Given the description of an element on the screen output the (x, y) to click on. 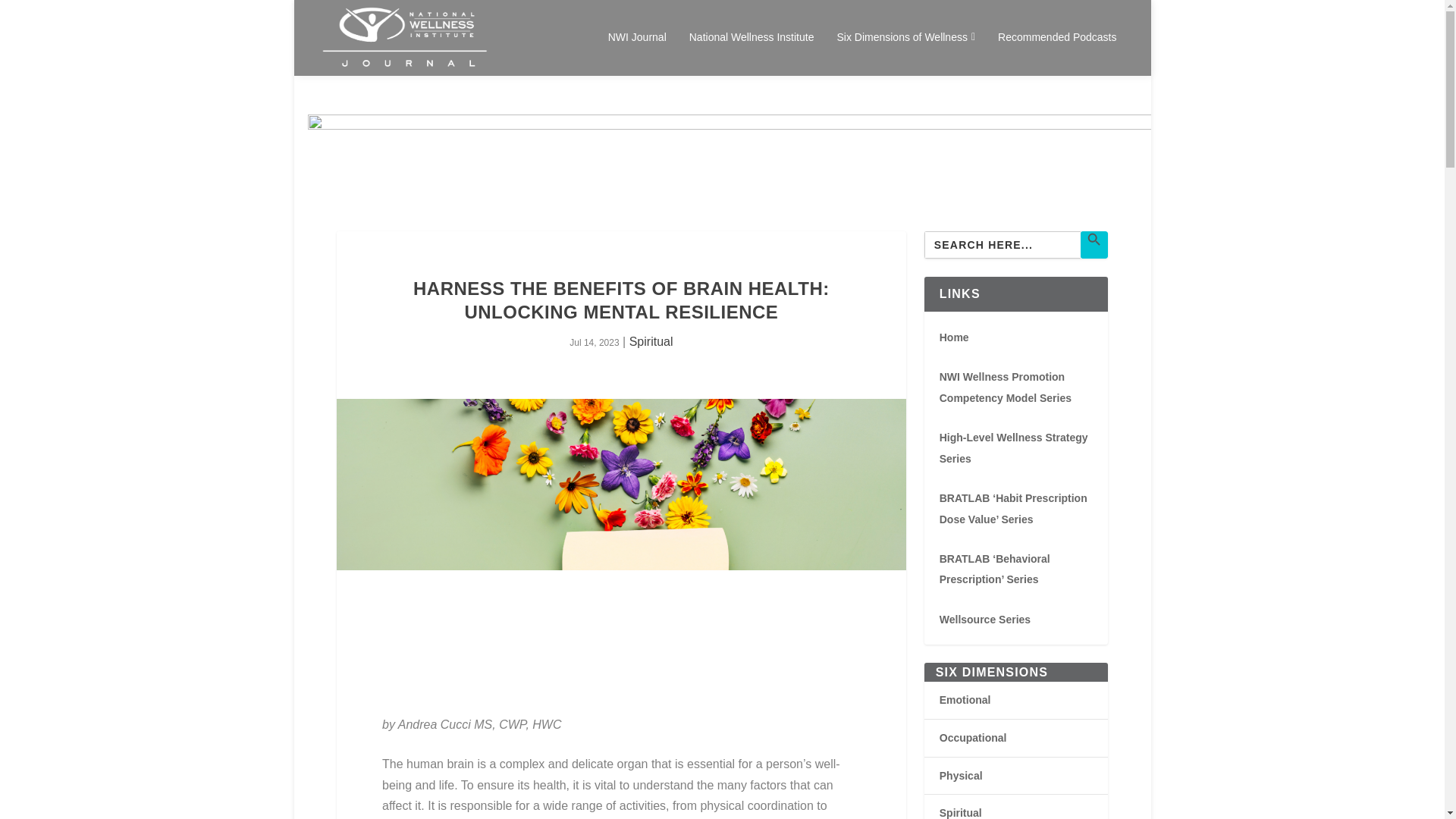
NWI Journal (637, 53)
National Wellness Institute (750, 53)
Spiritual (650, 341)
